Given the description of an element on the screen output the (x, y) to click on. 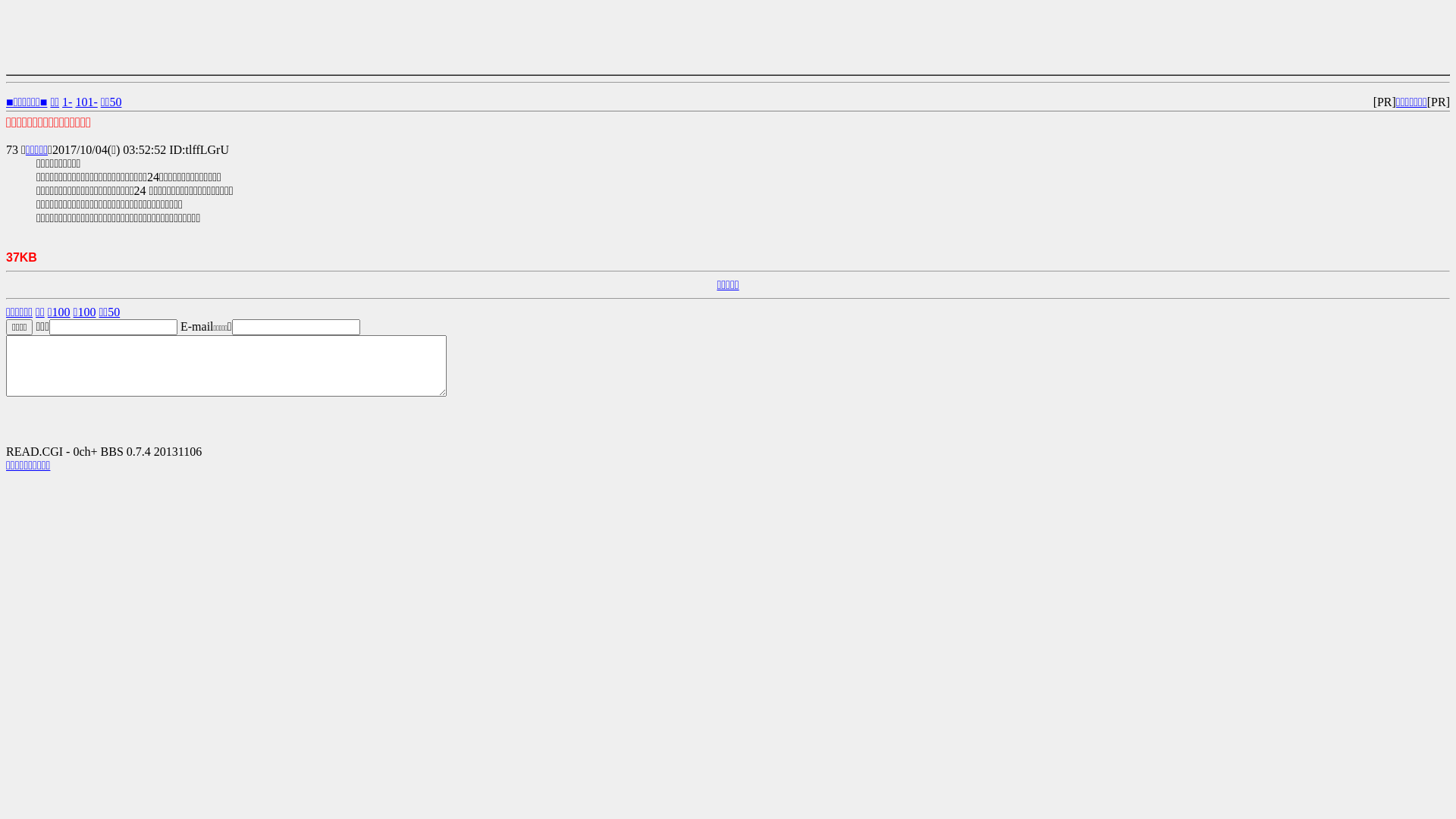
Advertisement Element type: hover (282, 40)
1- Element type: text (67, 101)
101- Element type: text (86, 101)
